Given the description of an element on the screen output the (x, y) to click on. 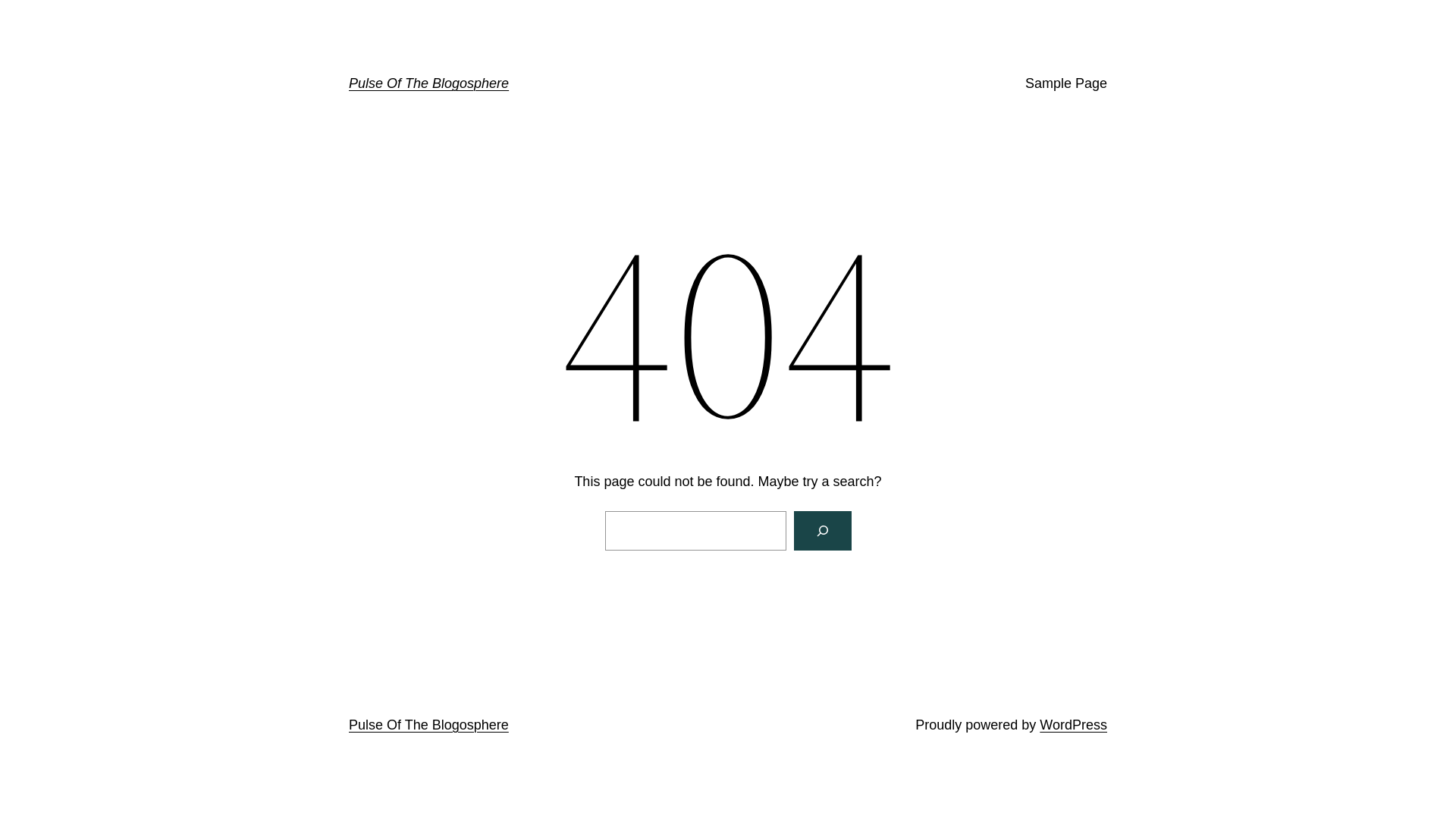
Pulse Of The Blogosphere Element type: text (428, 83)
Sample Page Element type: text (1066, 83)
WordPress Element type: text (1073, 724)
Pulse Of The Blogosphere Element type: text (428, 724)
